Given the description of an element on the screen output the (x, y) to click on. 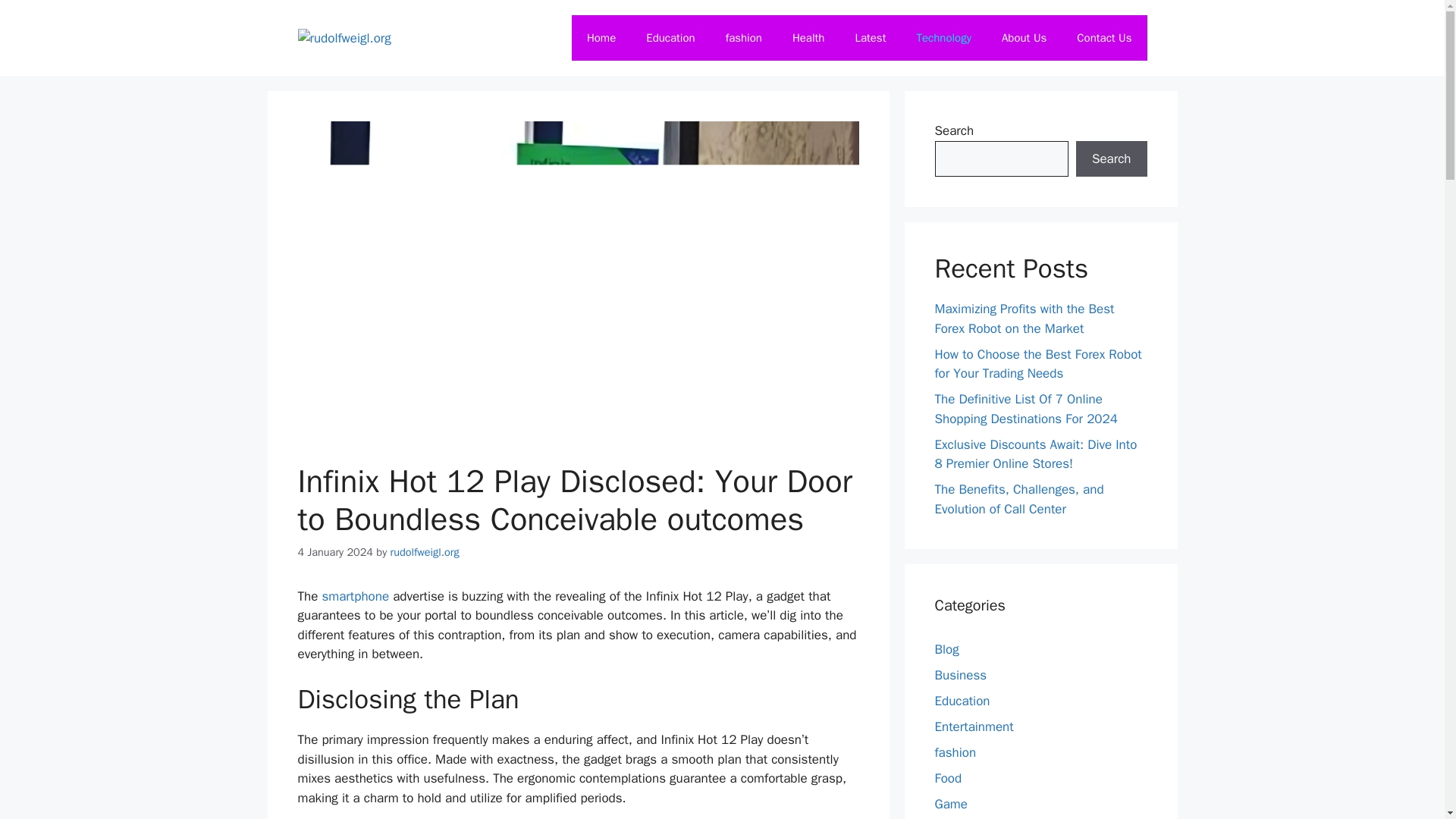
Business (960, 675)
Education (962, 700)
Home (601, 37)
Contact Us (1104, 37)
fashion (954, 752)
Health (808, 37)
How to Choose the Best Forex Robot for Your Trading Needs (1037, 363)
View all posts by rudolfweigl.org (425, 551)
